Given the description of an element on the screen output the (x, y) to click on. 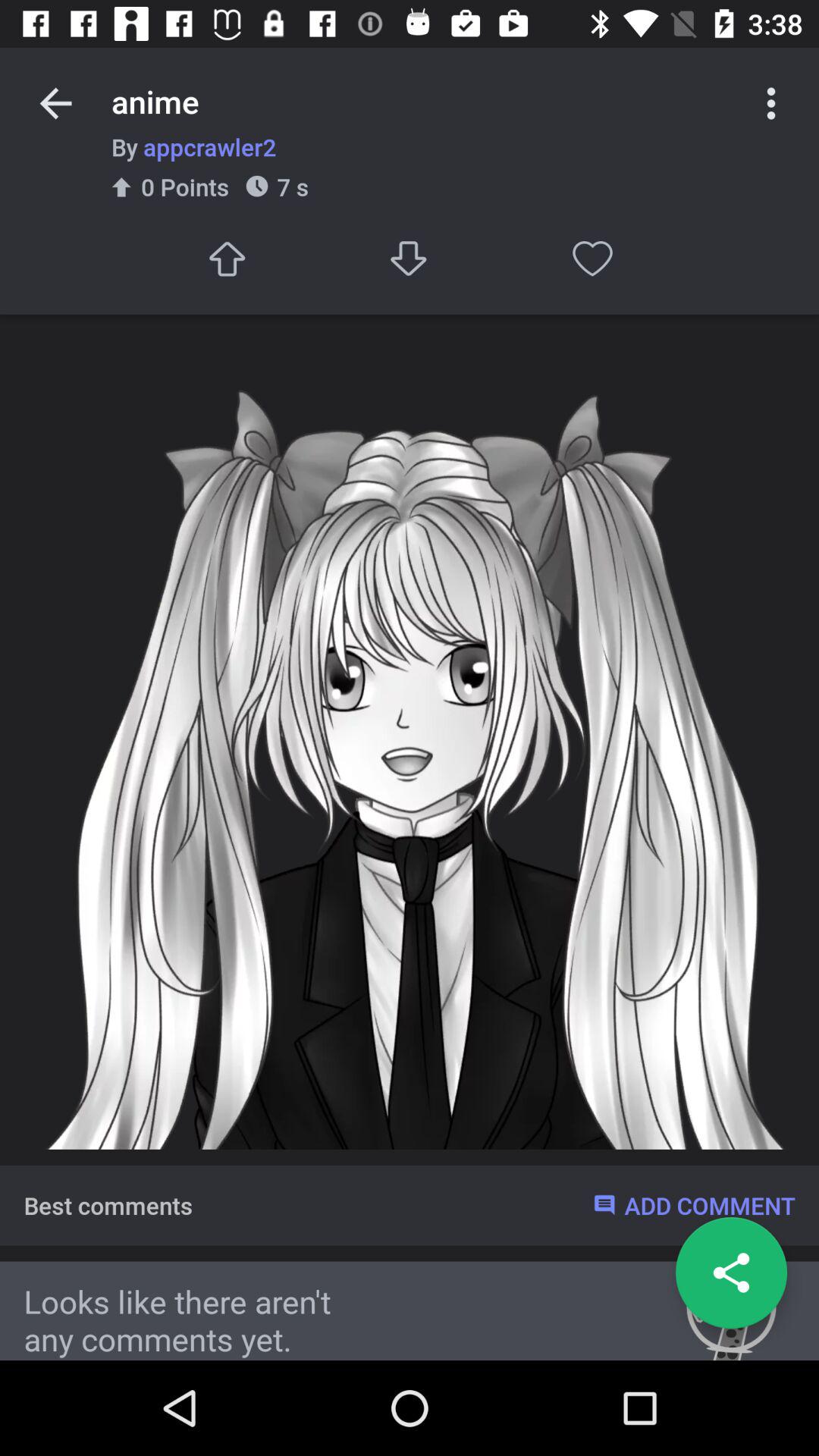
settings (771, 103)
